Given the description of an element on the screen output the (x, y) to click on. 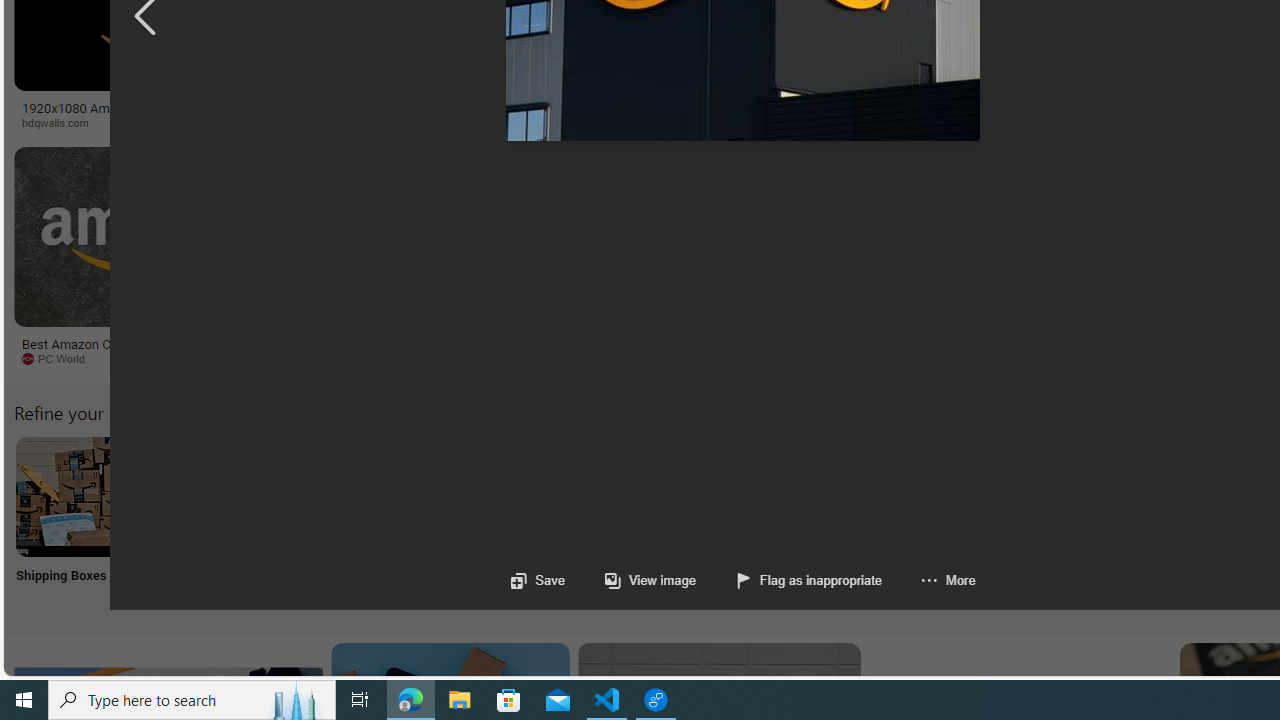
View image (630, 580)
PC World (146, 359)
Amazon Online Shopping Search Online Shopping Search (207, 521)
The Verge (419, 359)
Long Island Press (1043, 121)
Amazon Shipping Boxes Shipping Boxes (75, 521)
Amazon Package Delivery (735, 496)
Amazon Retail Store (867, 496)
Image result for amazon (936, 236)
More (928, 580)
Amazon Retail Store Retail Store (867, 521)
